Given the description of an element on the screen output the (x, y) to click on. 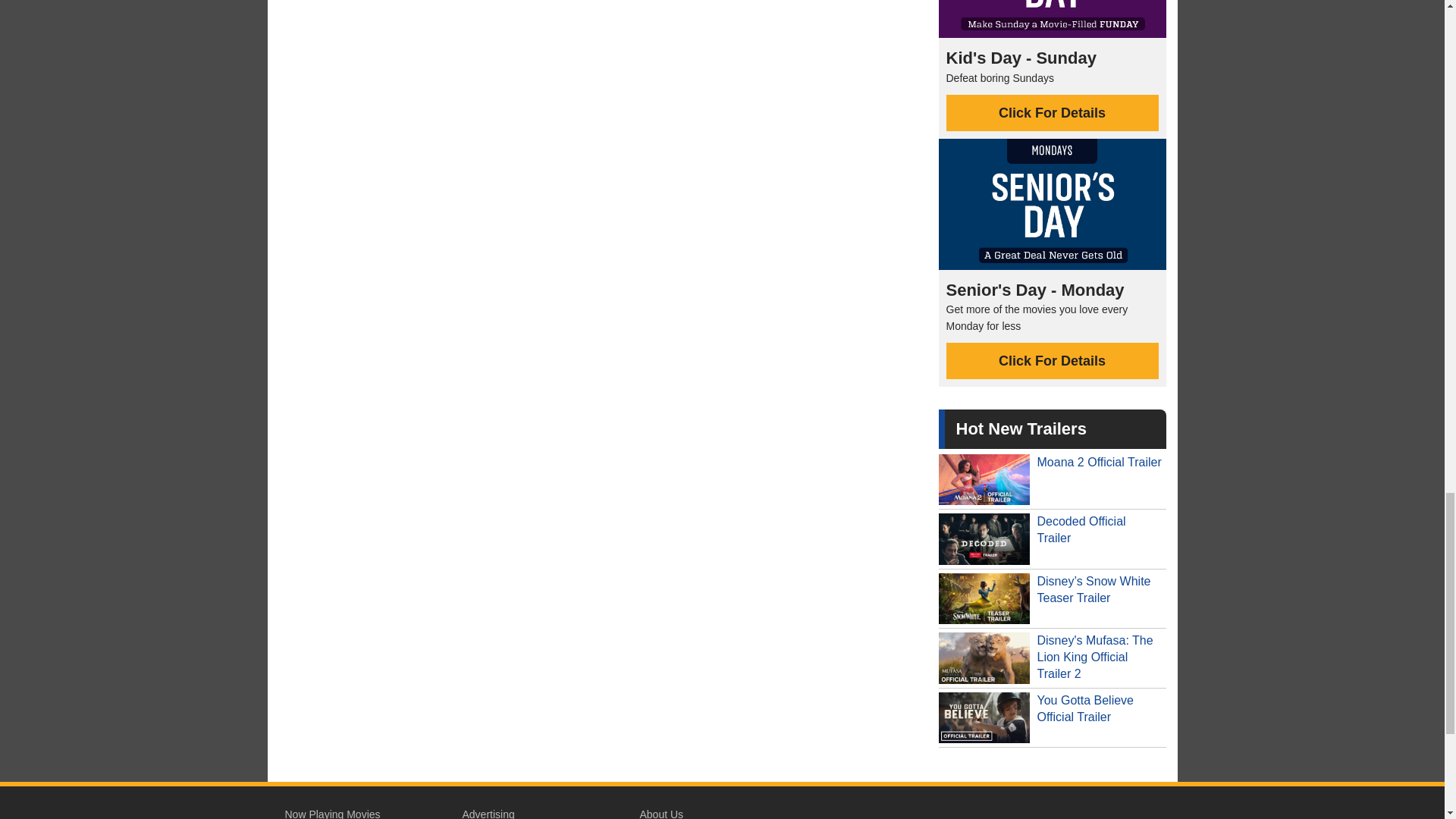
Decoded Official Trailer (1052, 538)
Click For Details (1052, 361)
You Gotta Believe Official Trailer (1052, 717)
Disney's Mufasa: The Lion King Official Trailer 2 (1052, 657)
Click For Details (1052, 113)
Moana 2 Official Trailer (1052, 479)
